Given the description of an element on the screen output the (x, y) to click on. 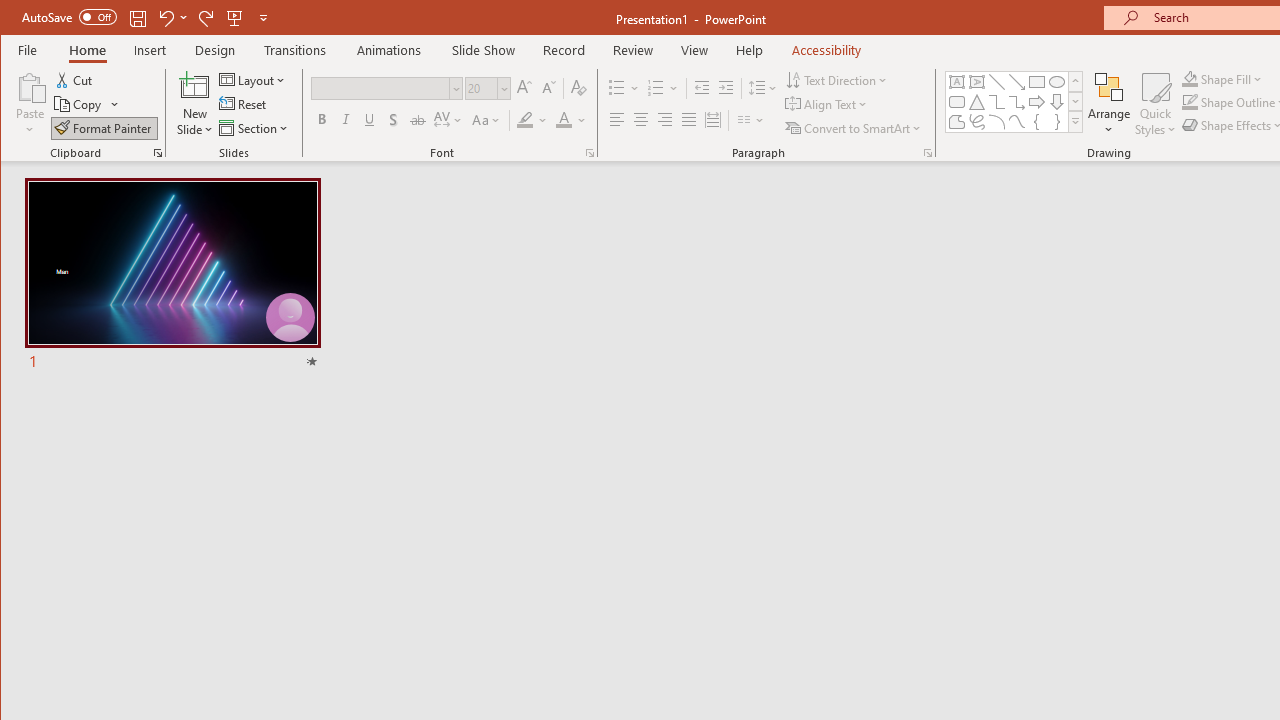
Shape Outline Blue, Accent 1 (1189, 101)
